Given the description of an element on the screen output the (x, y) to click on. 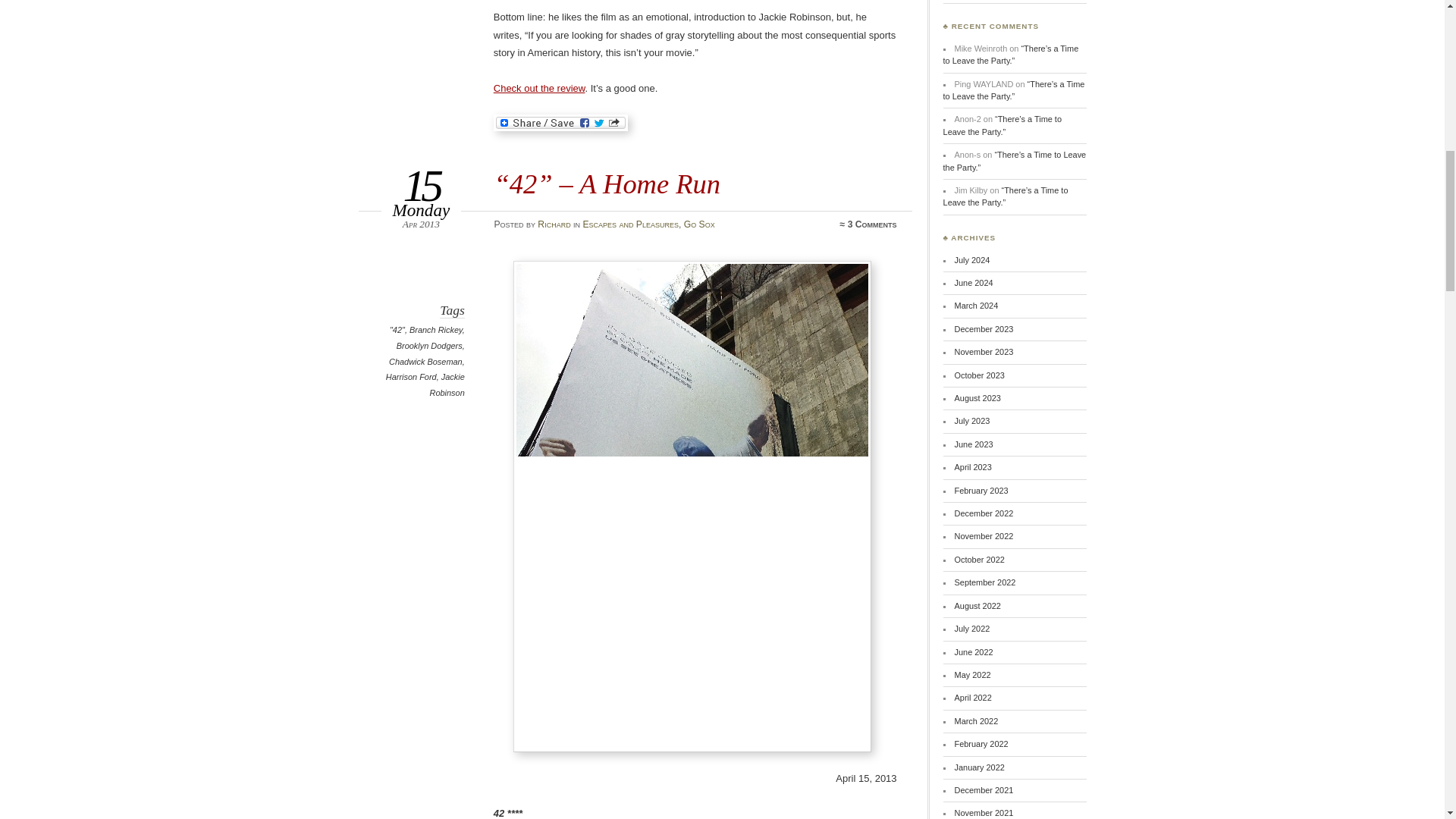
Check out the review (539, 88)
Harrison Ford (410, 376)
Brooklyn Dodgers (429, 345)
"42" (397, 329)
Chadwick Boseman (425, 361)
Jackie Robinson (446, 384)
View all posts by Richard (553, 224)
Richard (553, 224)
Branch Rickey (436, 329)
Escapes and Pleasures (630, 224)
3 Comments (871, 224)
Go Sox (699, 224)
